Given the description of an element on the screen output the (x, y) to click on. 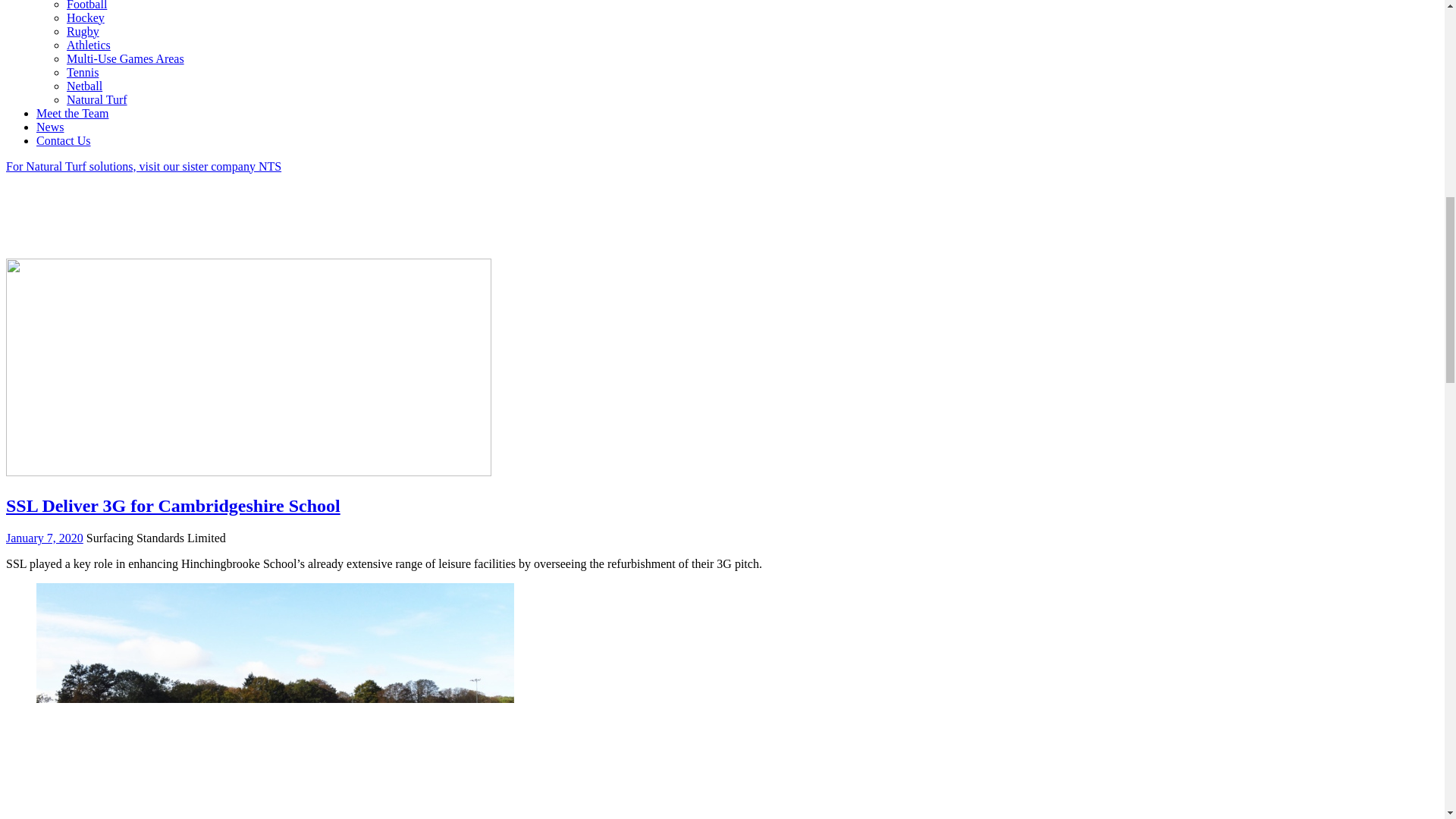
Hockey (85, 17)
Athletics (88, 44)
For Natural Turf solutions, visit our sister company NTS (143, 202)
Meet the Team (71, 113)
Natural Turf (97, 99)
SSL Deliver 3G for Cambridgeshire School (172, 505)
January 7, 2020 (43, 537)
Multi-Use Games Areas (125, 58)
Contact Us (63, 140)
Tennis (82, 72)
News (50, 126)
Rugby (82, 31)
Netball (83, 85)
Football (86, 5)
